Given the description of an element on the screen output the (x, y) to click on. 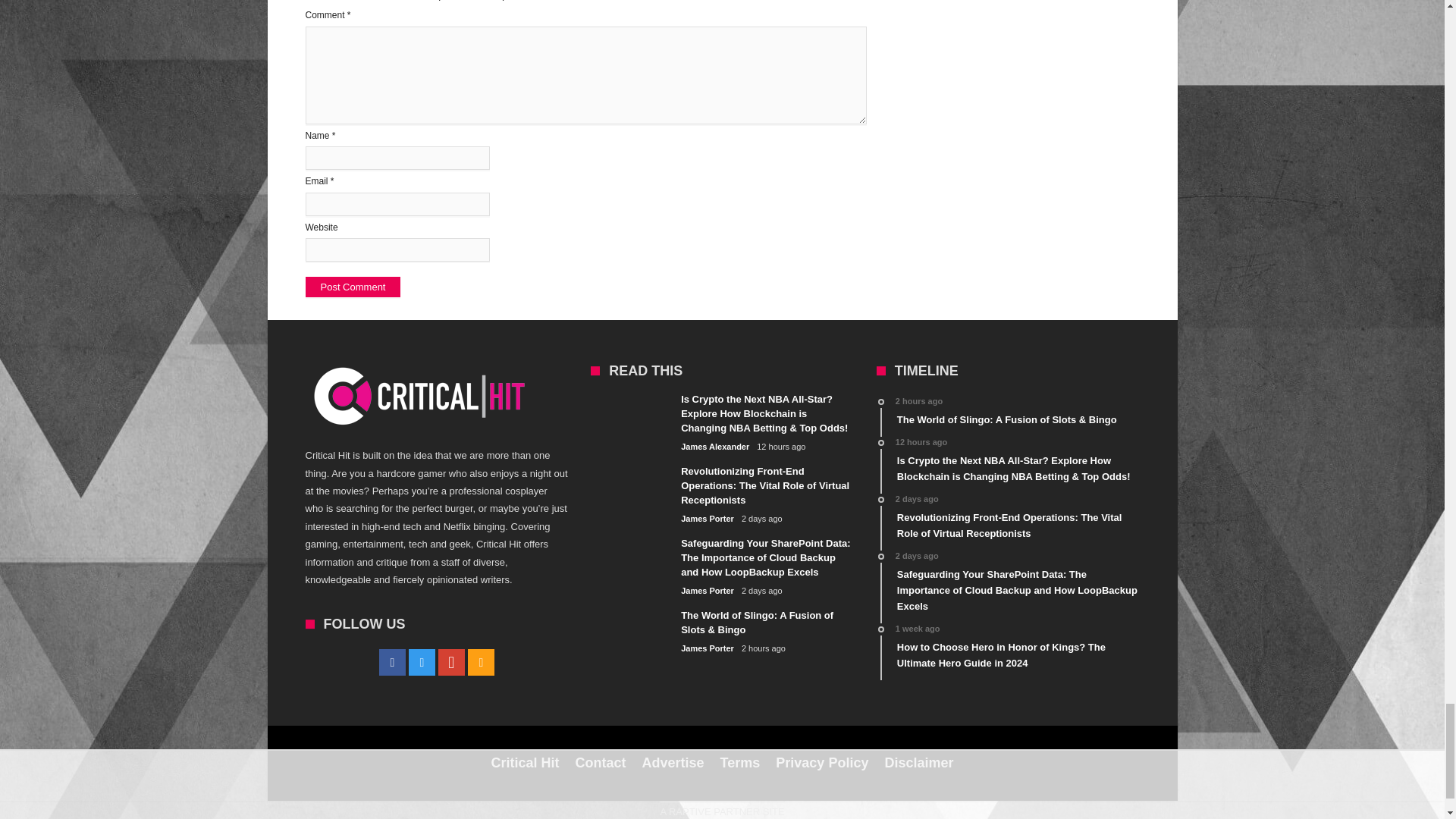
Post Comment (352, 286)
